Given the description of an element on the screen output the (x, y) to click on. 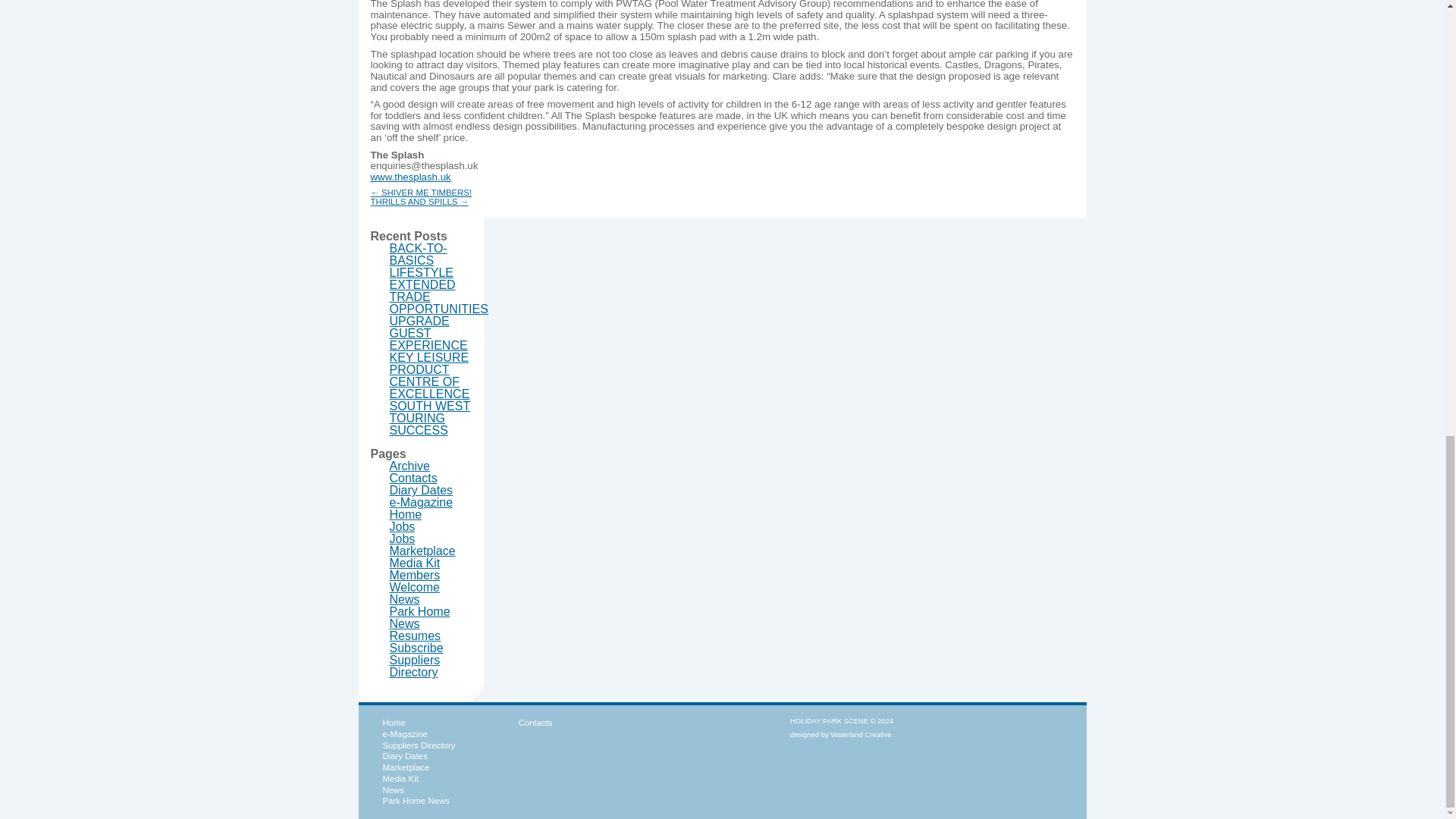
KEY LEISURE PRODUCT CENTRE OF EXCELLENCE (430, 375)
Jobs (402, 538)
Archive (409, 465)
Diary Dates (403, 755)
Members Welcome (415, 580)
Home (406, 513)
Park Home News (419, 617)
Suppliers Directory (417, 744)
e-Magazine (421, 502)
Suppliers Directory (415, 665)
EXTENDED TRADE OPPORTUNITIES (438, 296)
Jobs (402, 526)
Diary Dates (421, 490)
UPGRADE GUEST EXPERIENCE (428, 333)
SOUTH WEST TOURING SUCCESS (430, 417)
